Given the description of an element on the screen output the (x, y) to click on. 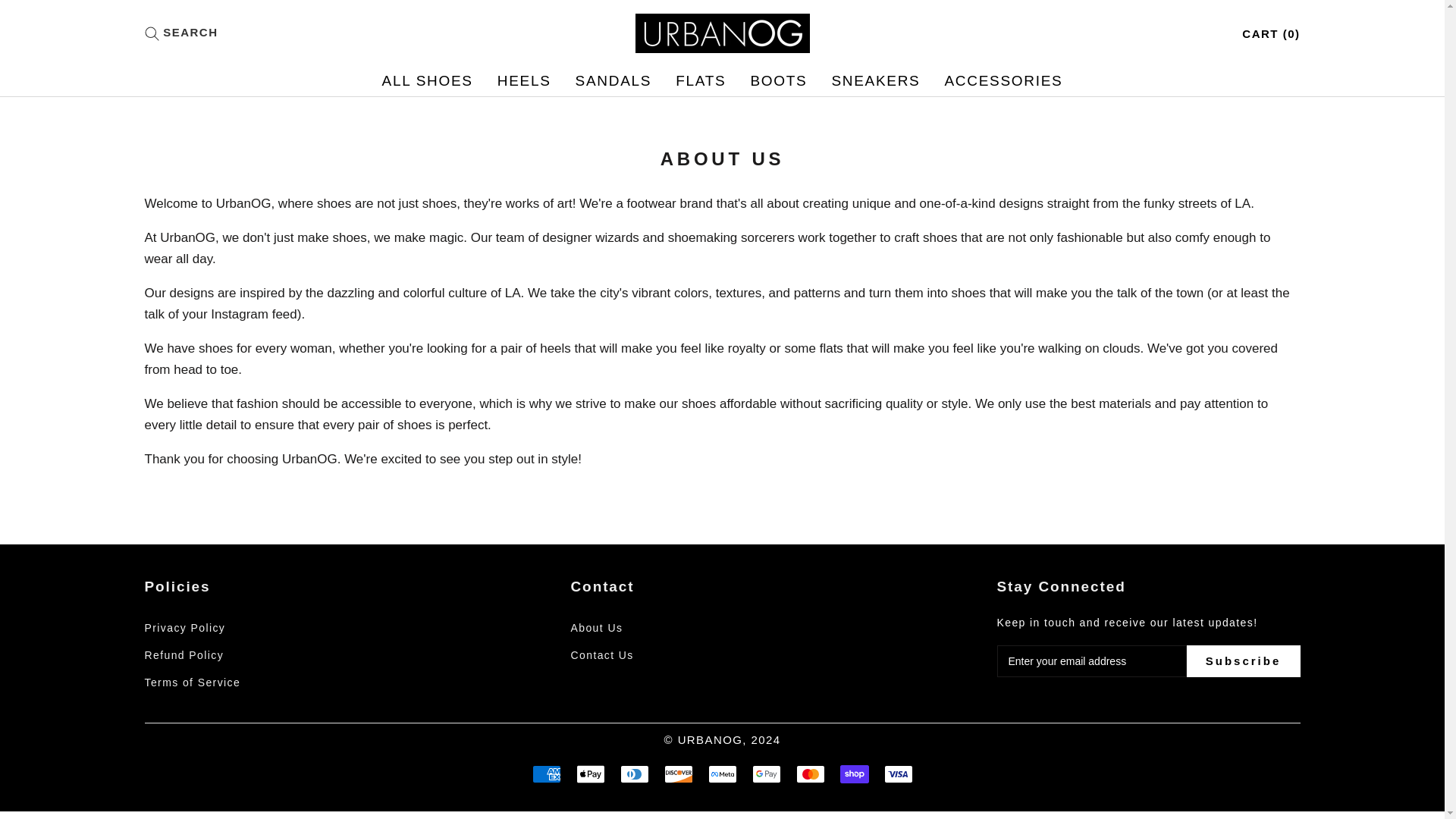
Contact Us (661, 655)
Refund Policy (235, 655)
Visa (524, 80)
Terms of Service (613, 80)
About Us (897, 773)
Mastercard (1002, 80)
Shop Pay (700, 80)
Diners Club (235, 682)
Apple Pay (661, 627)
American Express (810, 773)
